Given the description of an element on the screen output the (x, y) to click on. 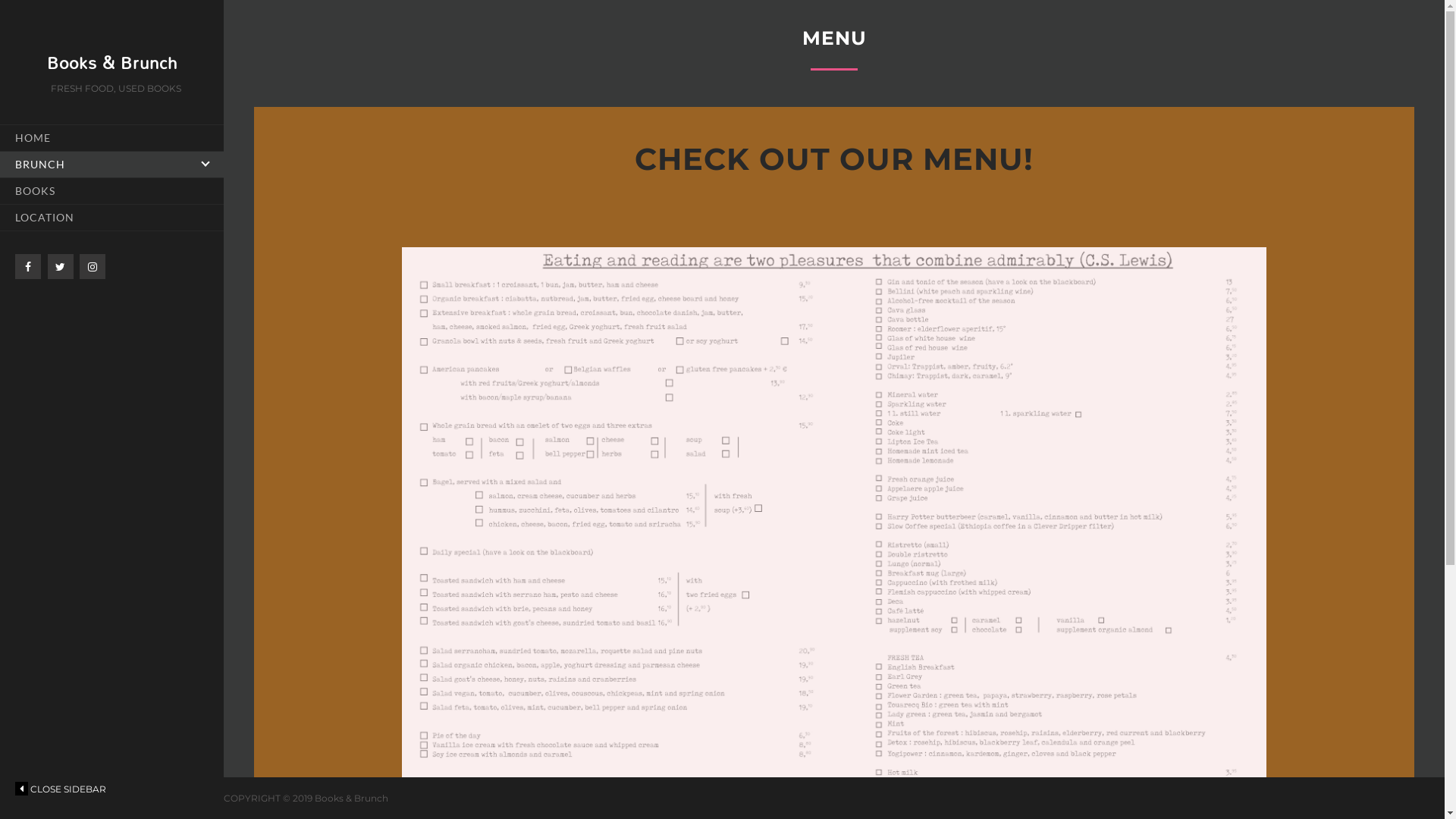
twitter Element type: hover (59, 266)
BRUNCH Element type: text (111, 163)
instagram Element type: hover (92, 266)
BOOKS Element type: text (111, 190)
Books & Brunch Element type: text (112, 62)
facebook Element type: hover (27, 266)
HOME Element type: text (111, 137)
LOCATION Element type: text (111, 217)
